Given the description of an element on the screen output the (x, y) to click on. 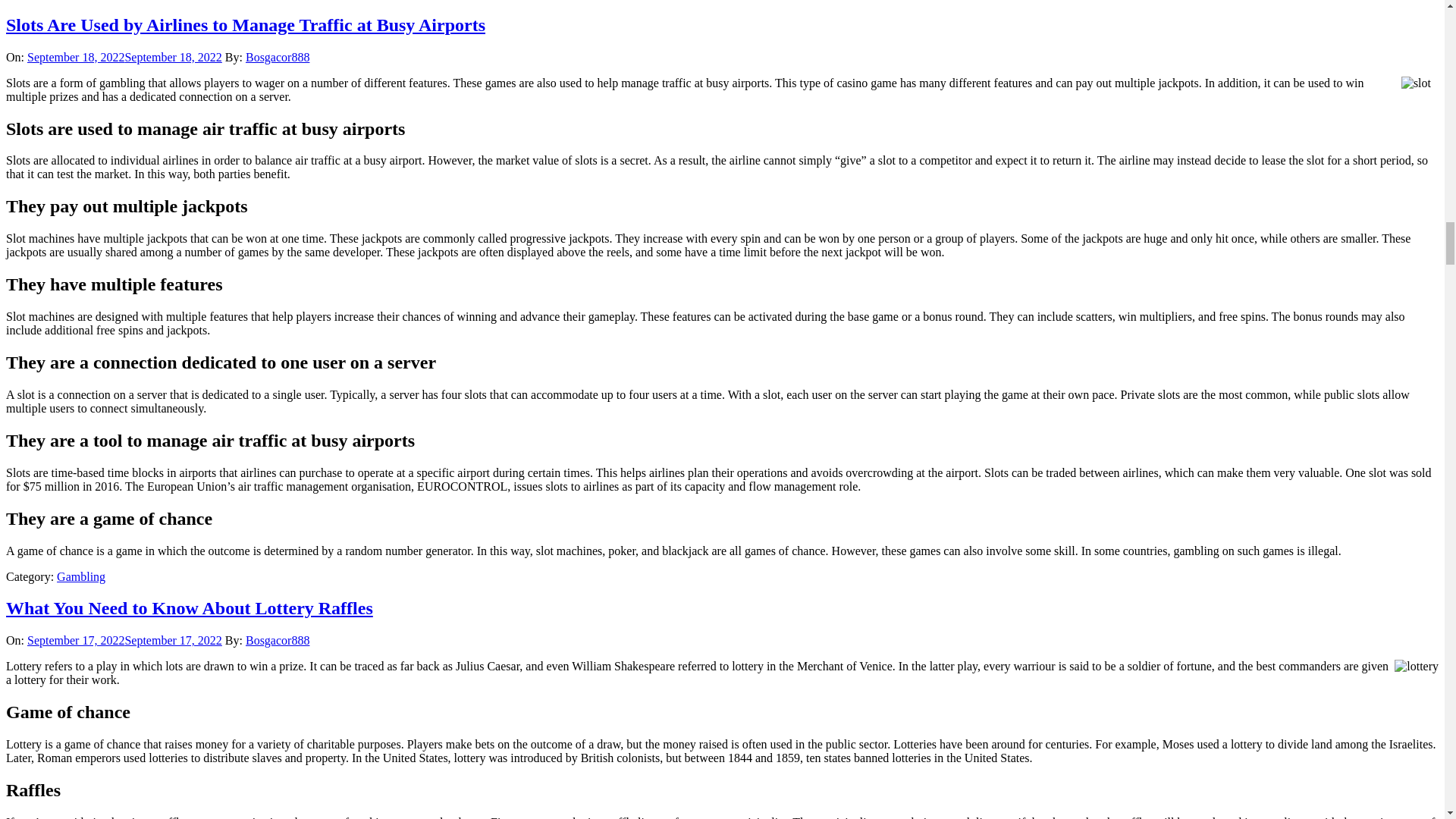
Bosgacor888 (277, 56)
Bosgacor888 (277, 640)
September 17, 2022September 17, 2022 (124, 640)
Gambling (80, 576)
September 18, 2022September 18, 2022 (124, 56)
What You Need to Know About Lottery Raffles (188, 608)
